Given the description of an element on the screen output the (x, y) to click on. 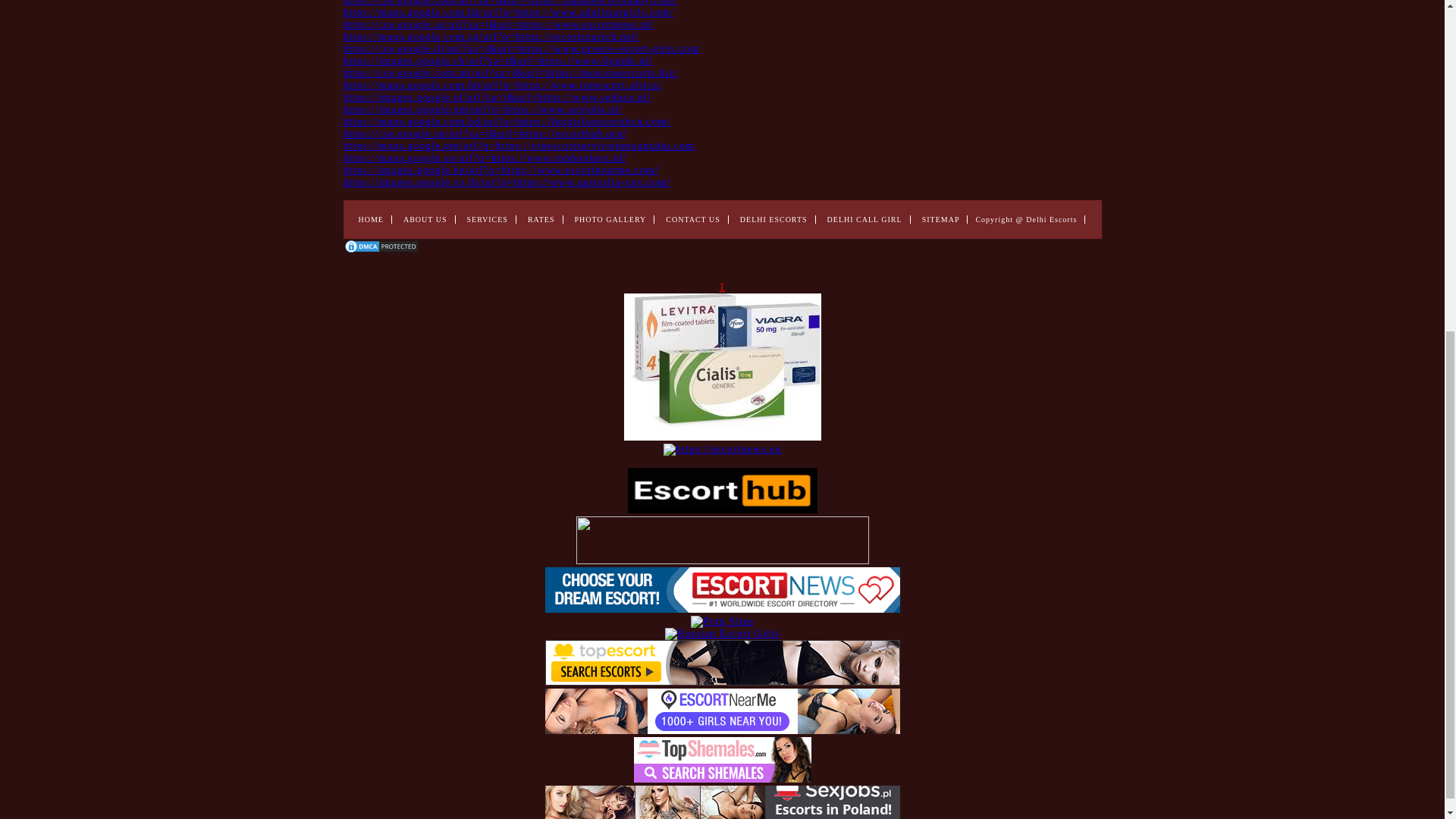
Top Shemales Escort (721, 778)
RATES (540, 219)
Escorts near me (721, 609)
Escort Near Me (721, 730)
SERVICES (487, 219)
DELHI ESCORTS (773, 219)
Russian escort (721, 633)
DMCA.com Protection Status (380, 250)
HOME (370, 219)
PHOTO GALLERY (610, 219)
